Given the description of an element on the screen output the (x, y) to click on. 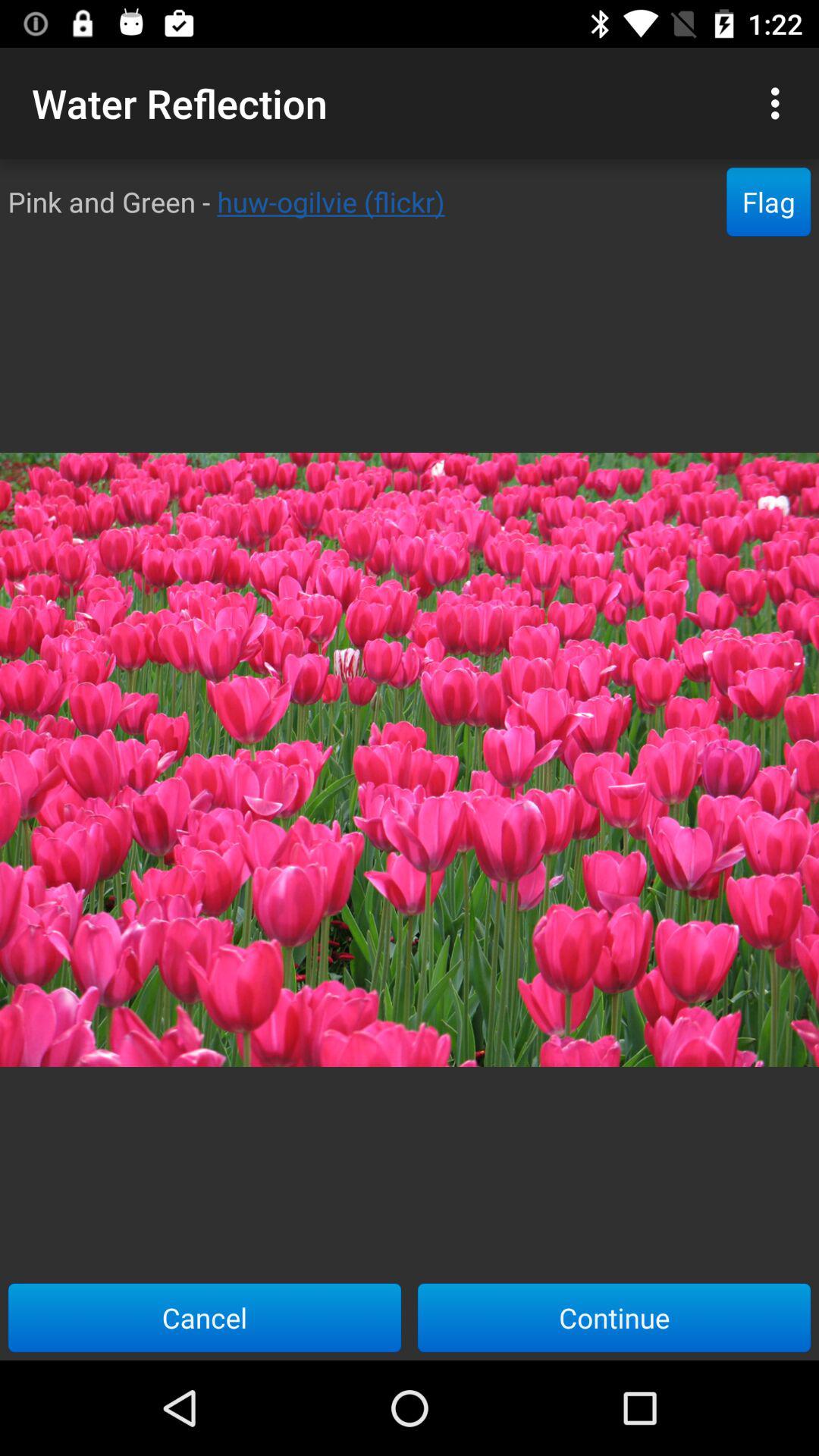
select the item to the right of pink and green (768, 201)
